Given the description of an element on the screen output the (x, y) to click on. 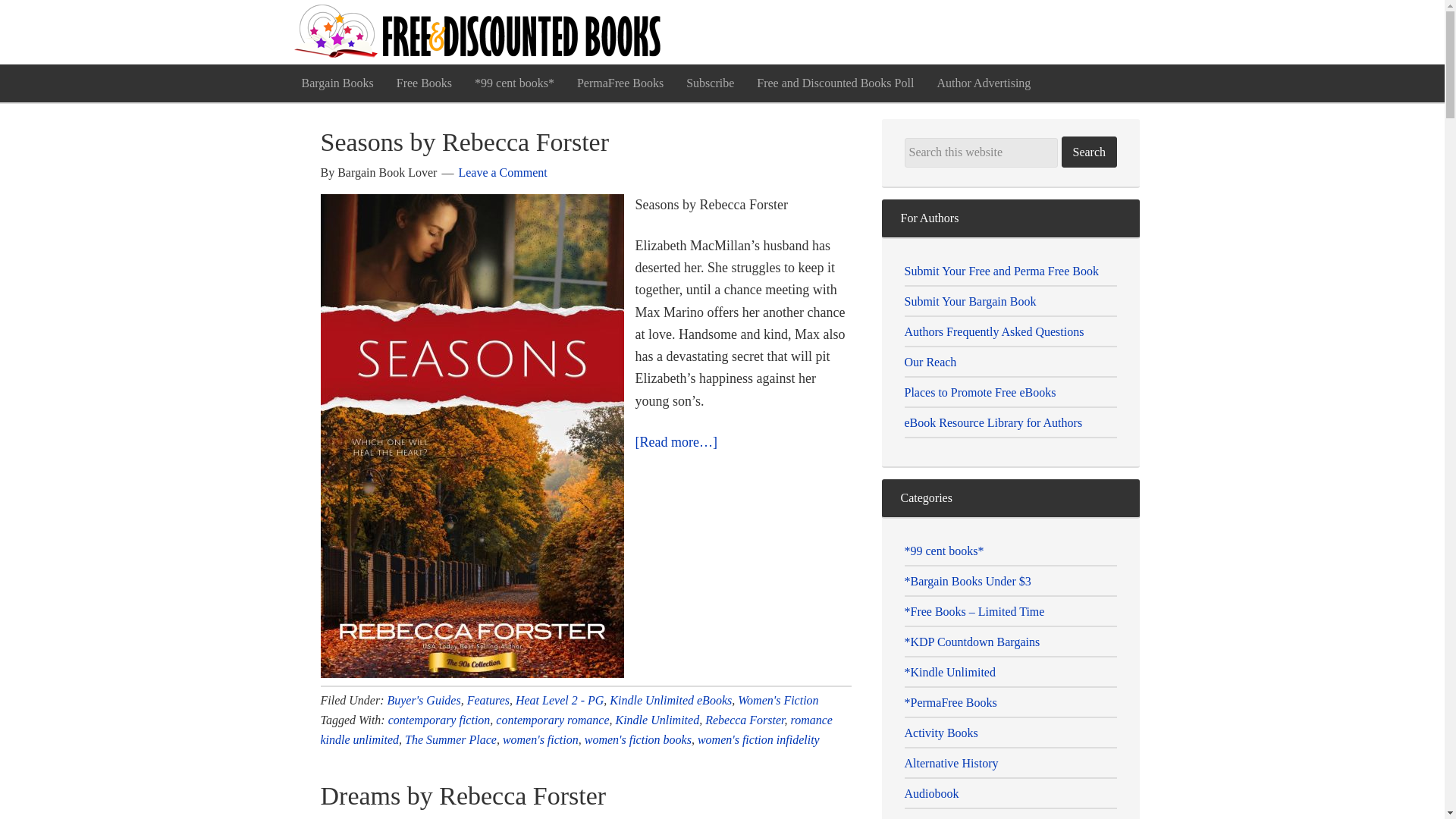
FreeDiscountedBooks.com (478, 32)
Dreams by Rebecca Forster (462, 795)
Seasons by Rebecca Forster (464, 141)
Kindle Unlimited (657, 718)
Women's Fiction (778, 698)
women's fiction (540, 738)
contemporary fiction (439, 718)
Bargain Books (336, 83)
Kindle Unlimited eBooks (671, 698)
Free Books (424, 83)
Features (488, 698)
women's fiction infidelity (758, 738)
The Summer Place (450, 738)
Rebecca Forster (744, 718)
Heat Level 2 - PG (559, 698)
